Given the description of an element on the screen output the (x, y) to click on. 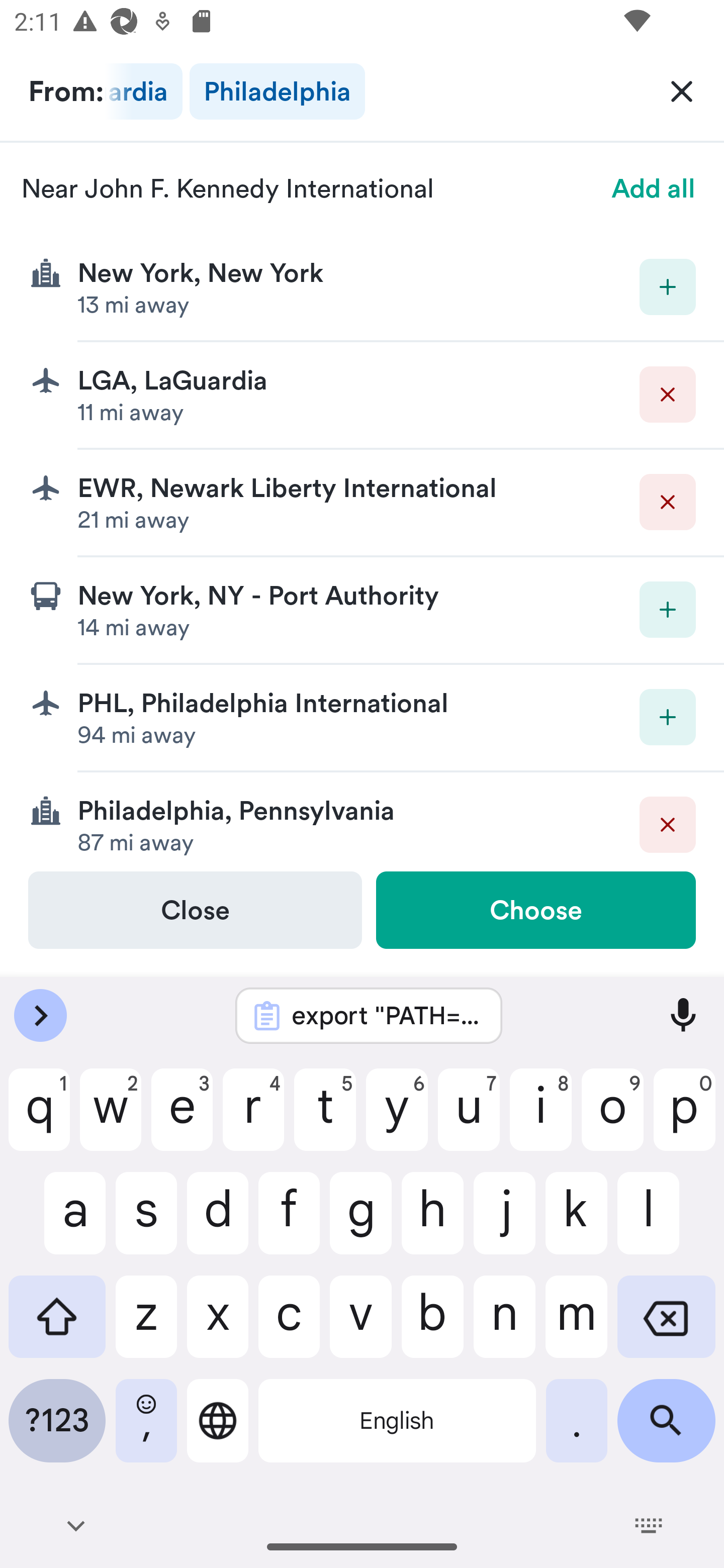
Clear All (681, 90)
LaGuardia (143, 91)
Philadelphia (276, 91)
Add all (653, 187)
Add destination New York, New York 13 mi away (362, 287)
Add destination (667, 286)
Delete LGA, LaGuardia 11 mi away (362, 395)
Delete (667, 394)
Delete (667, 501)
Add destination (667, 609)
Add destination (667, 716)
Delete Philadelphia, Pennsylvania 87 mi away (362, 821)
Delete (667, 824)
Close (195, 909)
Choose (535, 909)
